Given the description of an element on the screen output the (x, y) to click on. 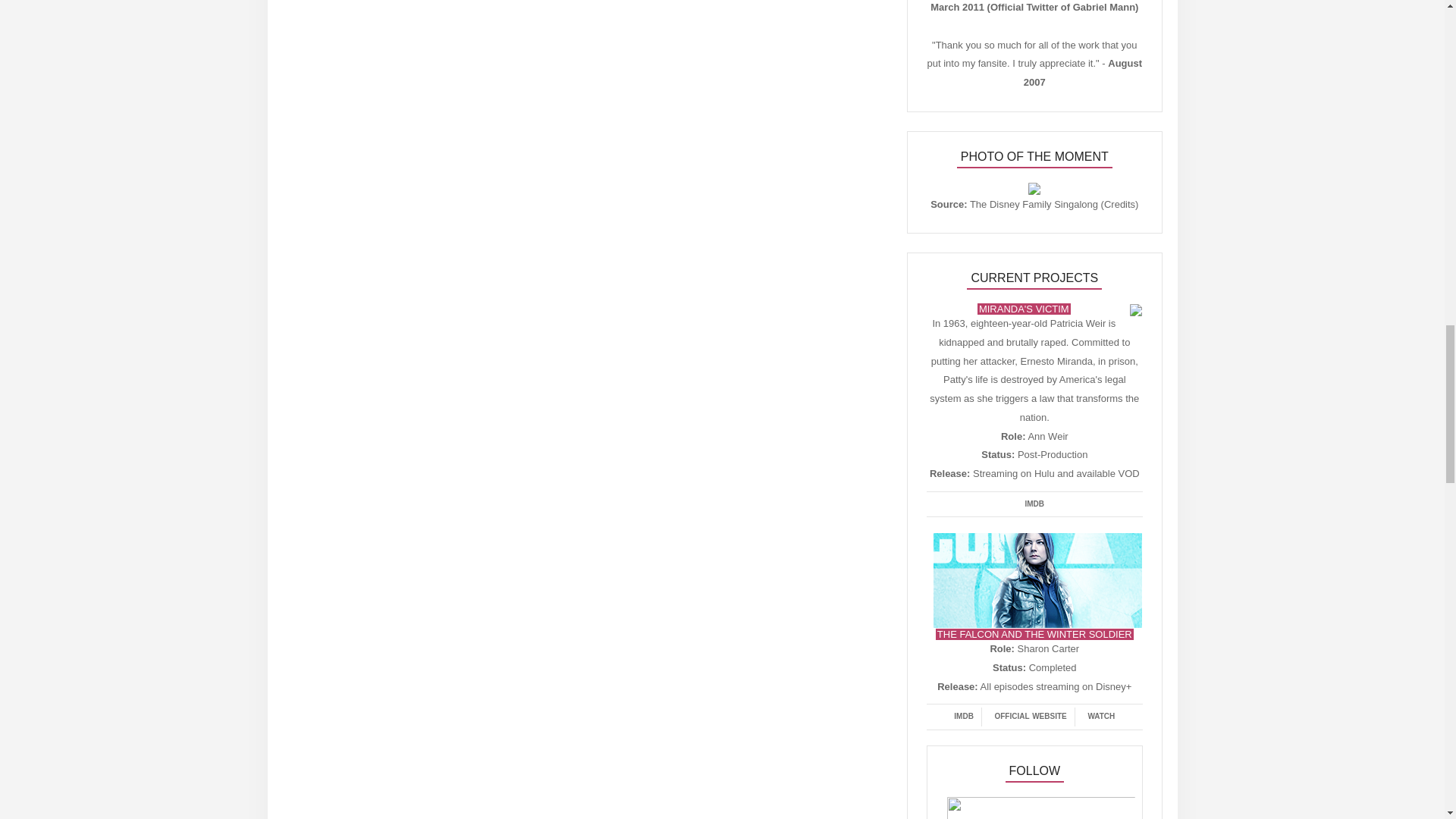
IMDB (963, 716)
IMDB (1034, 504)
OFFICIAL WEBSITE (1030, 716)
WATCH (1101, 716)
